Given the description of an element on the screen output the (x, y) to click on. 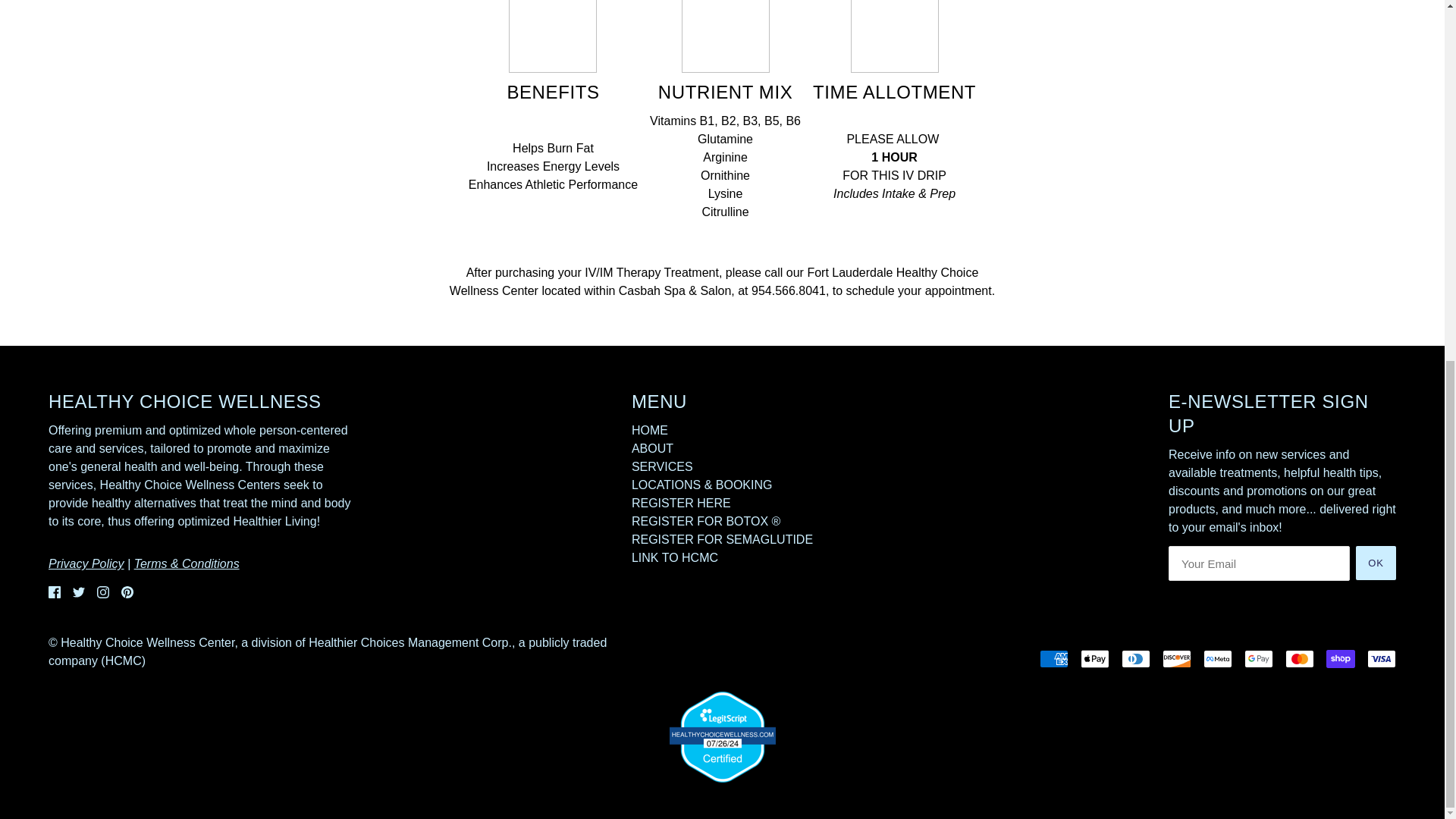
Meta Pay (1217, 659)
REGISTER FOR SEMAGLUTIDE (721, 539)
Discover (1176, 659)
American Express (1053, 659)
Diners Club (1135, 659)
Mastercard (1299, 659)
Google Pay (1258, 659)
LINK TO HCMC (674, 557)
SERVICES (662, 466)
HOME (649, 430)
Verify LegitScript Approval (721, 735)
ABOUT (651, 448)
Apple Pay (1094, 659)
Shop Pay (1340, 659)
Privacy Policy (85, 563)
